Given the description of an element on the screen output the (x, y) to click on. 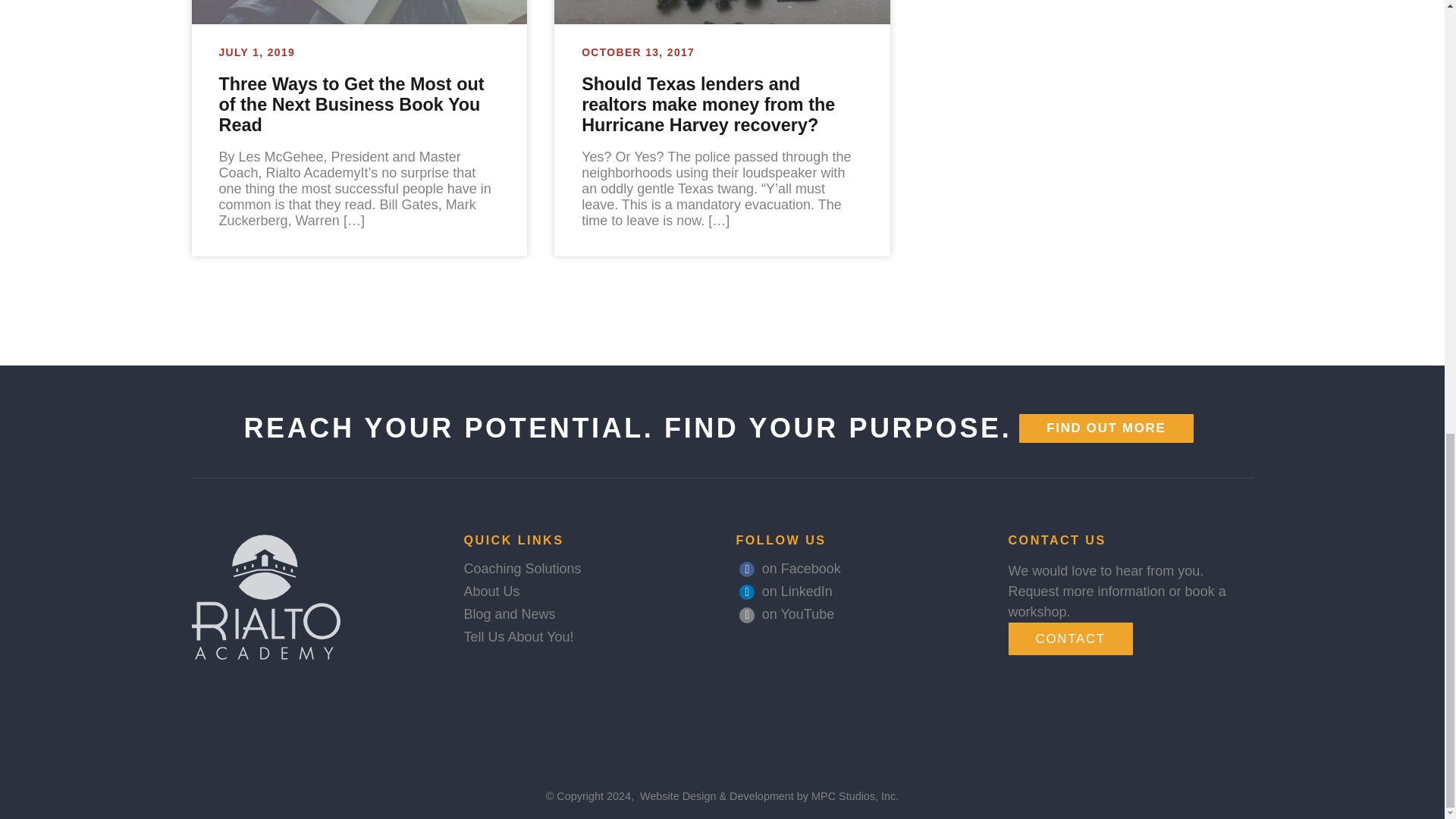
About Us (491, 590)
FIND OUT MORE (1105, 428)
Tell Us About You! (518, 636)
Coaching Solutions (522, 568)
Blog and News (510, 613)
